Given the description of an element on the screen output the (x, y) to click on. 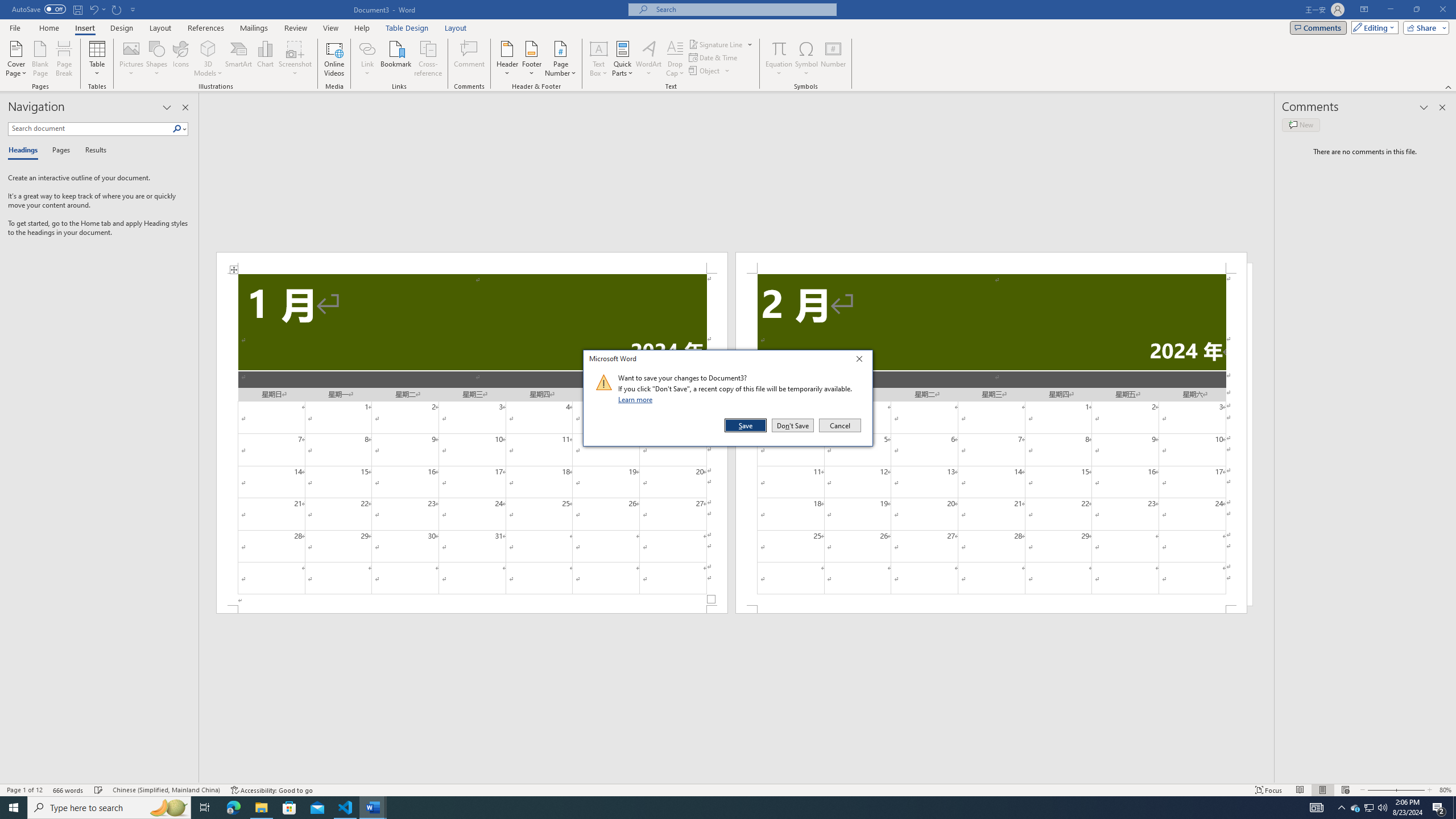
File Explorer - 1 running window (261, 807)
Review (295, 28)
Customize Quick Access Toolbar (133, 9)
Quick Access Toolbar (74, 9)
Task View (204, 807)
Page Break (63, 58)
View (330, 28)
3D Models (208, 58)
Web Layout (1344, 790)
Restore Down (1416, 9)
Class: NetUIImage (603, 382)
Comments (1318, 27)
Repeat Doc Close (117, 9)
Equation (778, 48)
